Given the description of an element on the screen output the (x, y) to click on. 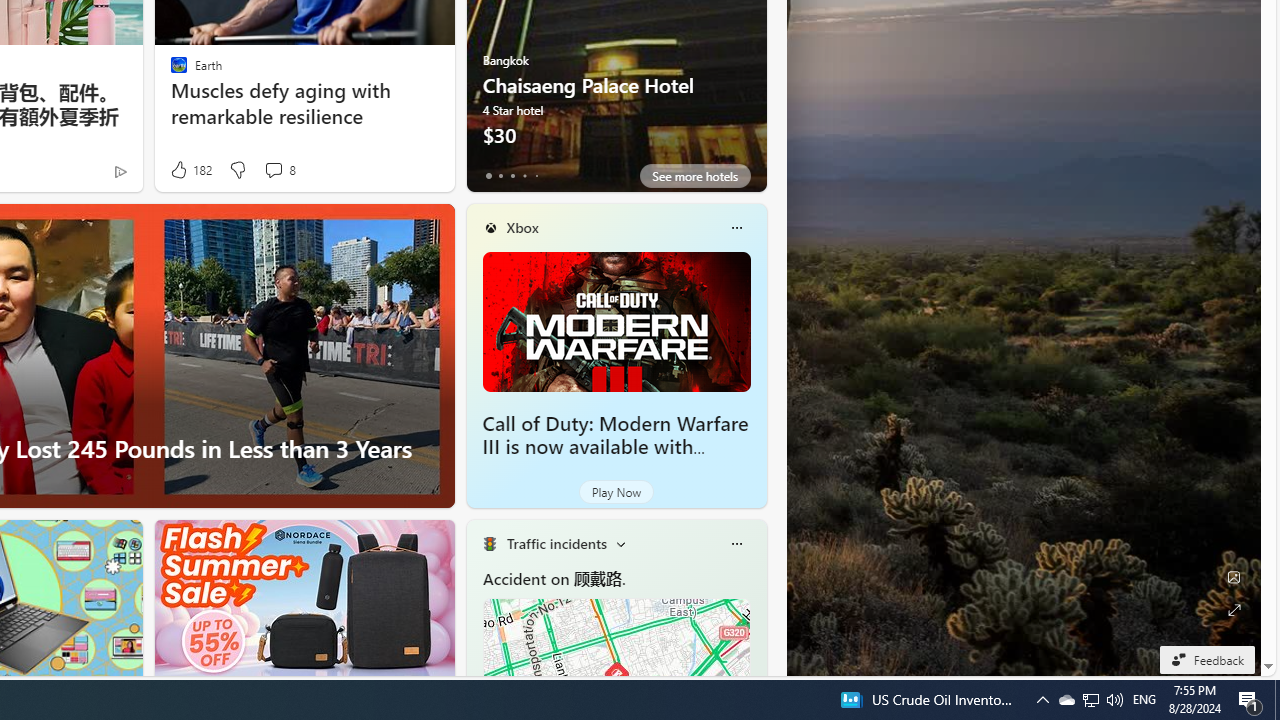
Dislike (237, 170)
tab-4 (535, 175)
View comments 8 Comment (279, 170)
Traffic Title Traffic Light (489, 543)
tab-3 (524, 175)
Edit Background (1233, 577)
182 Like (190, 170)
tab-2 (511, 175)
Change scenarios (620, 543)
Play Now (616, 491)
Expand background (1233, 610)
Class: icon-img (736, 543)
Feedback (1206, 659)
View comments 8 Comment (273, 169)
